Given the description of an element on the screen output the (x, y) to click on. 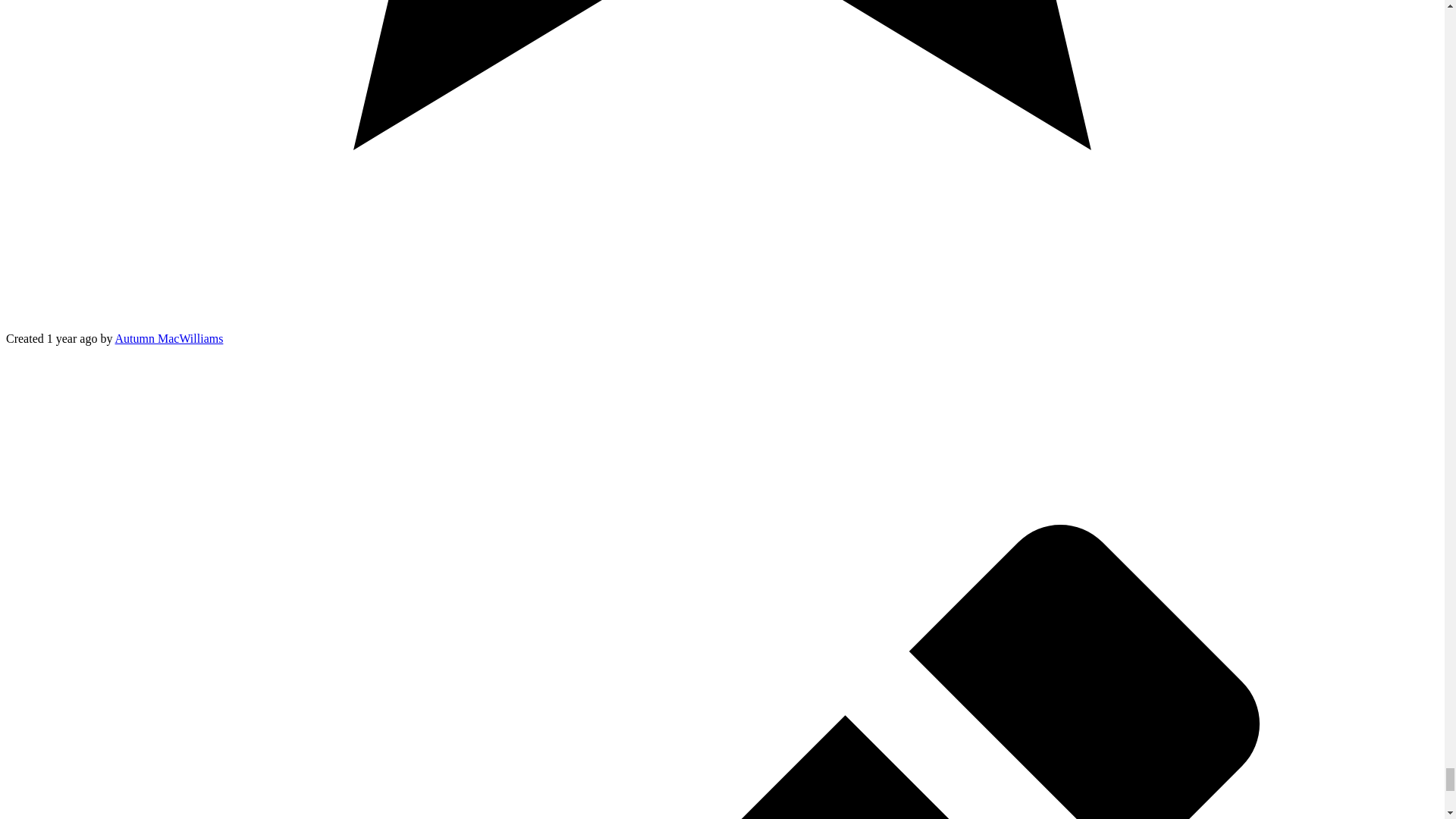
Sun, Jul 2, 2023 6:29 PM (71, 338)
